Given the description of an element on the screen output the (x, y) to click on. 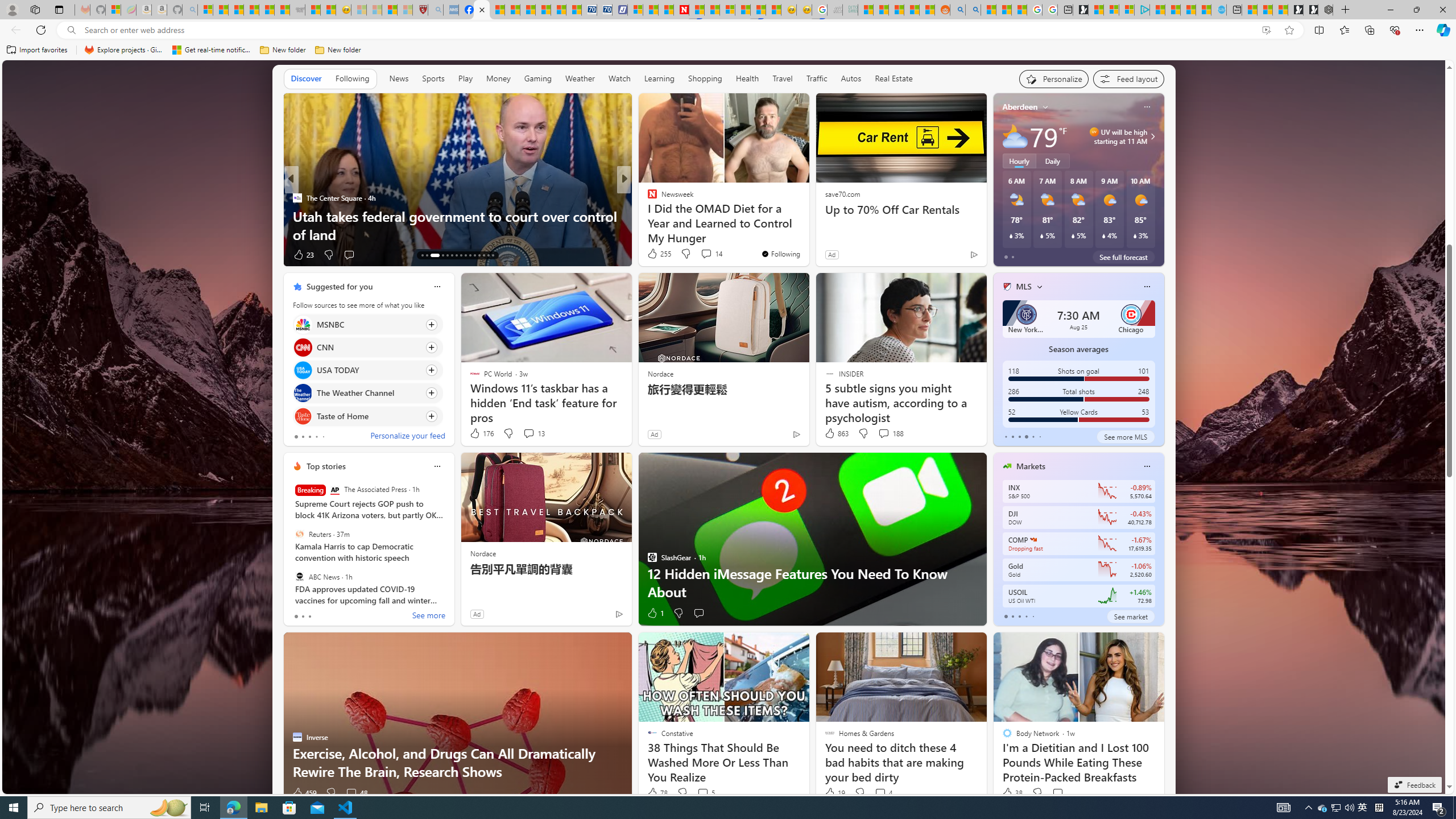
next (1158, 359)
Click to follow source Taste of Home (367, 415)
Personalize your feed" (1054, 78)
AutomationID: tab-75 (470, 255)
577 Like (654, 254)
AutomationID: tab-91 (488, 255)
863 Like (835, 433)
